Given the description of an element on the screen output the (x, y) to click on. 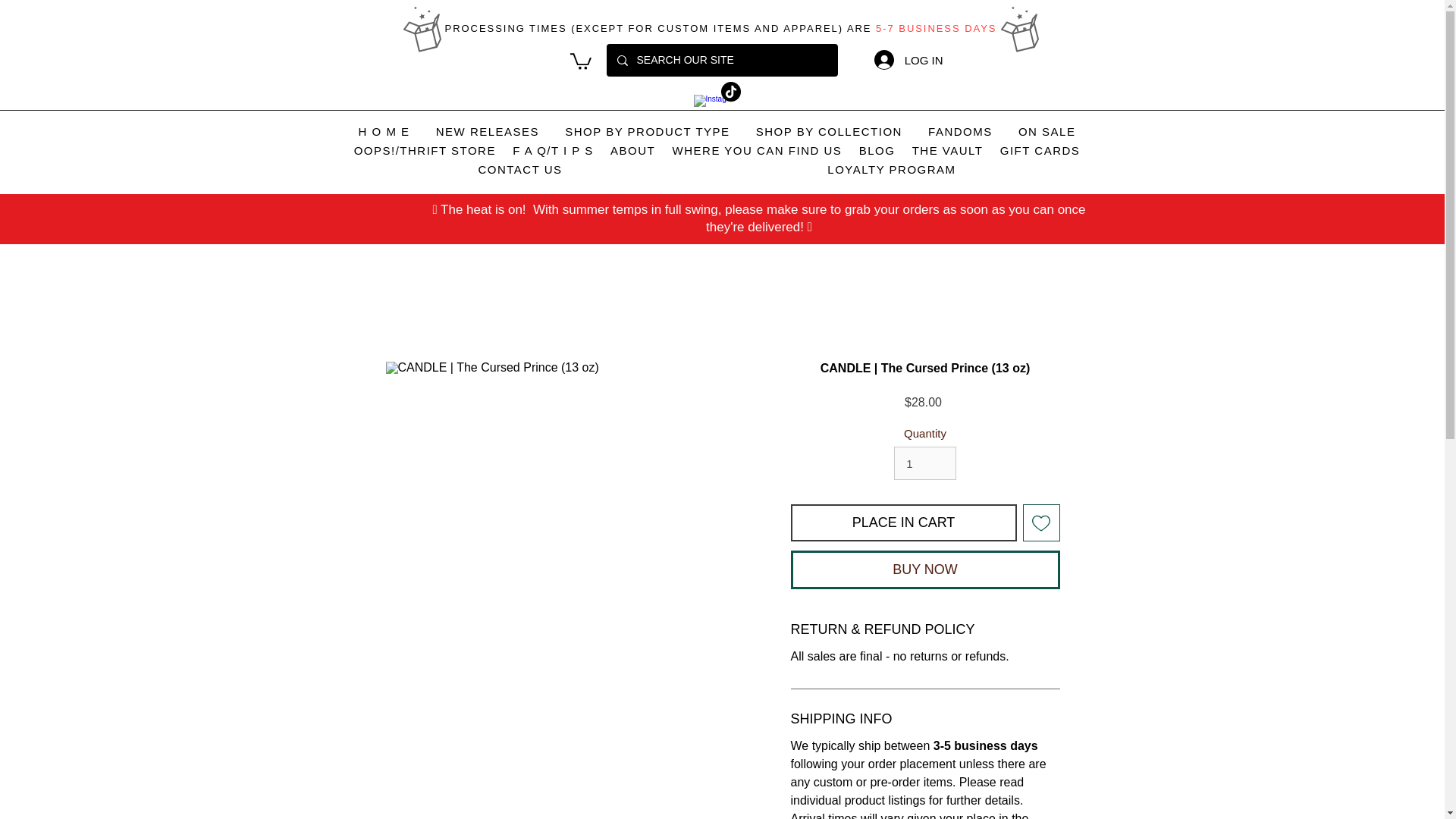
1 (924, 462)
NEW RELEASES (488, 131)
H O M E (384, 131)
FANDOMS (960, 131)
SHOP BY PRODUCT TYPE (646, 131)
ON SALE (1047, 131)
SHOP BY COLLECTION (828, 131)
LOG IN (908, 59)
